Given the description of an element on the screen output the (x, y) to click on. 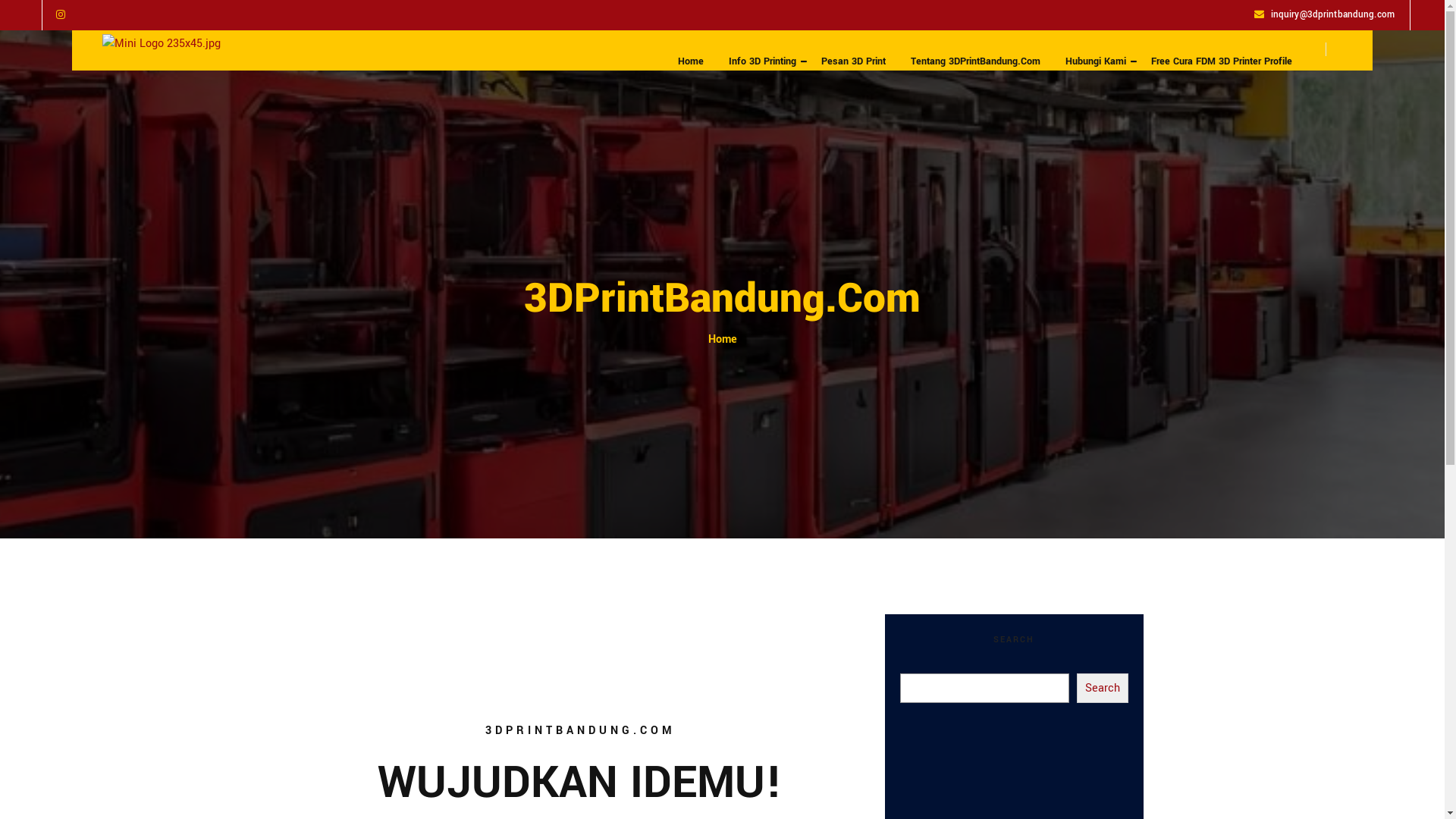
Tentang 3DPrintBandung.Com Element type: text (975, 61)
Info 3D Printing Element type: text (762, 61)
Pesan 3D Print Element type: text (853, 61)
Free Cura FDM 3D Printer Profile Element type: text (1221, 61)
Hubungi Kami Element type: text (1095, 61)
Search Element type: text (1102, 688)
Home Element type: text (690, 61)
